Given the description of an element on the screen output the (x, y) to click on. 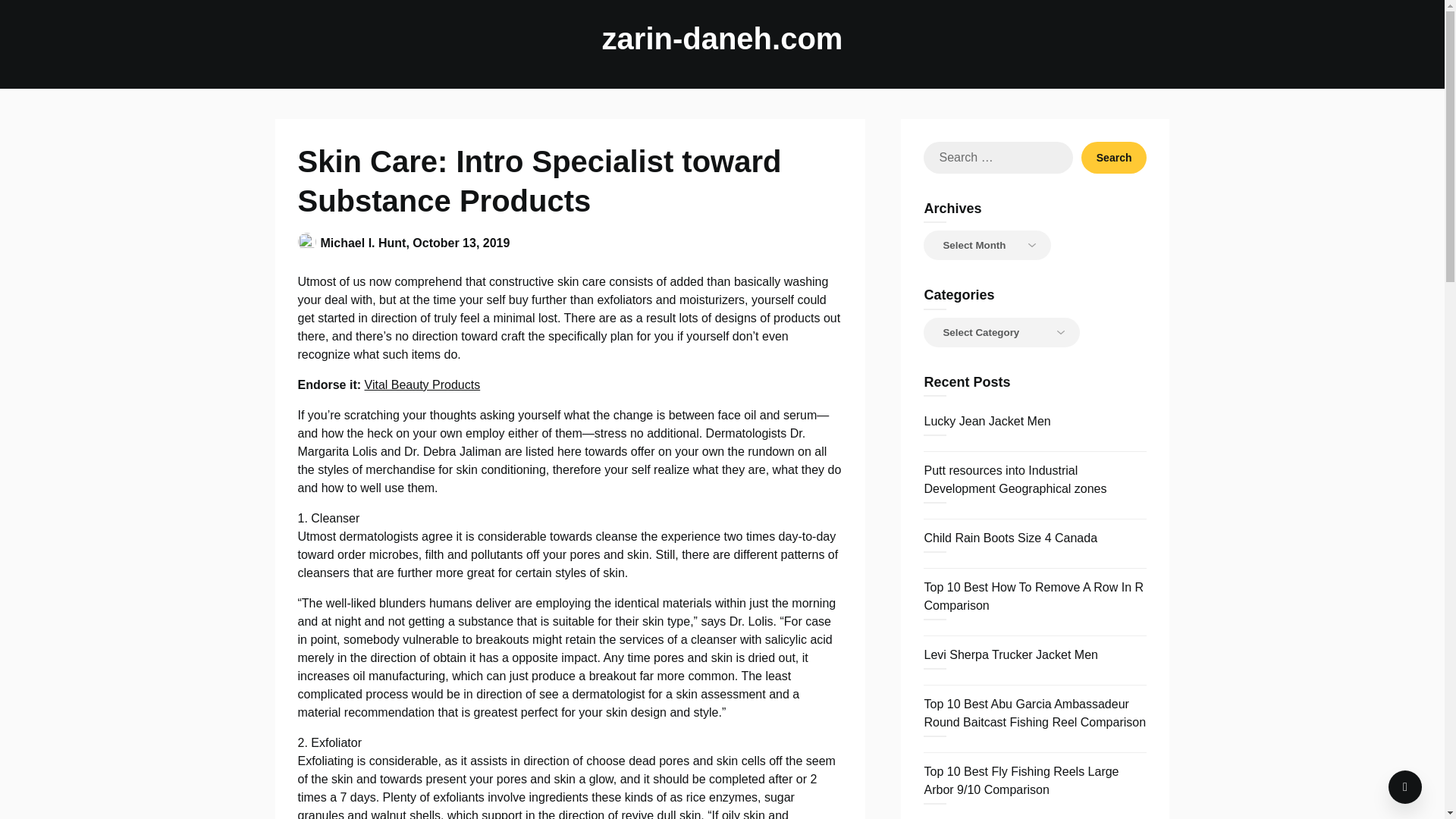
Vital Beauty Products (422, 384)
Lucky Jean Jacket Men (986, 420)
October 13, 2019 (460, 242)
Levi Sherpa Trucker Jacket Men (1010, 654)
Child Rain Boots Size 4 Canada (1010, 537)
Search (1114, 157)
Search (1114, 157)
To Top (1405, 786)
